Given the description of an element on the screen output the (x, y) to click on. 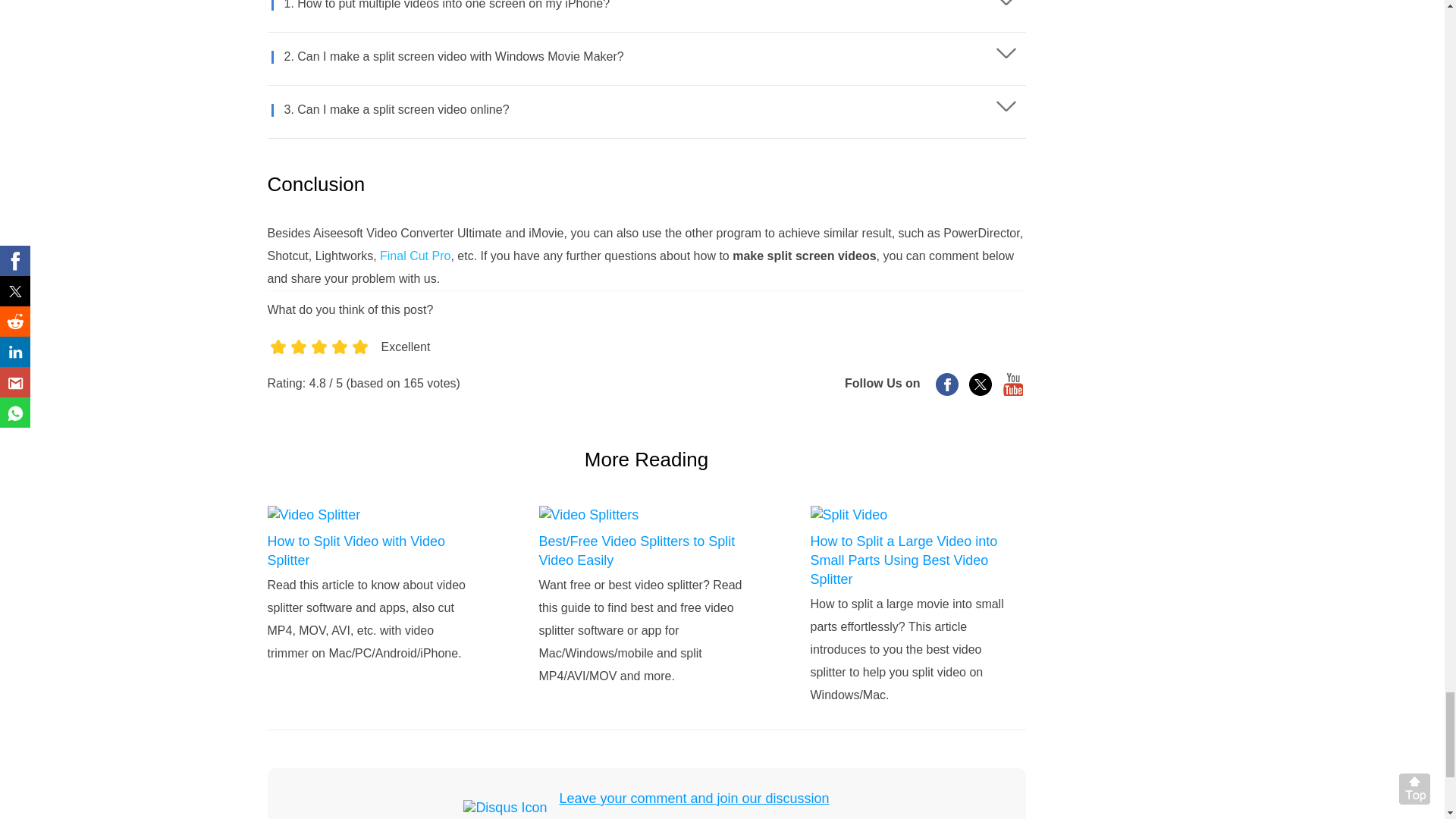
Final Cut Pro (414, 255)
How to Split Video with Video Splitter (368, 551)
